Given the description of an element on the screen output the (x, y) to click on. 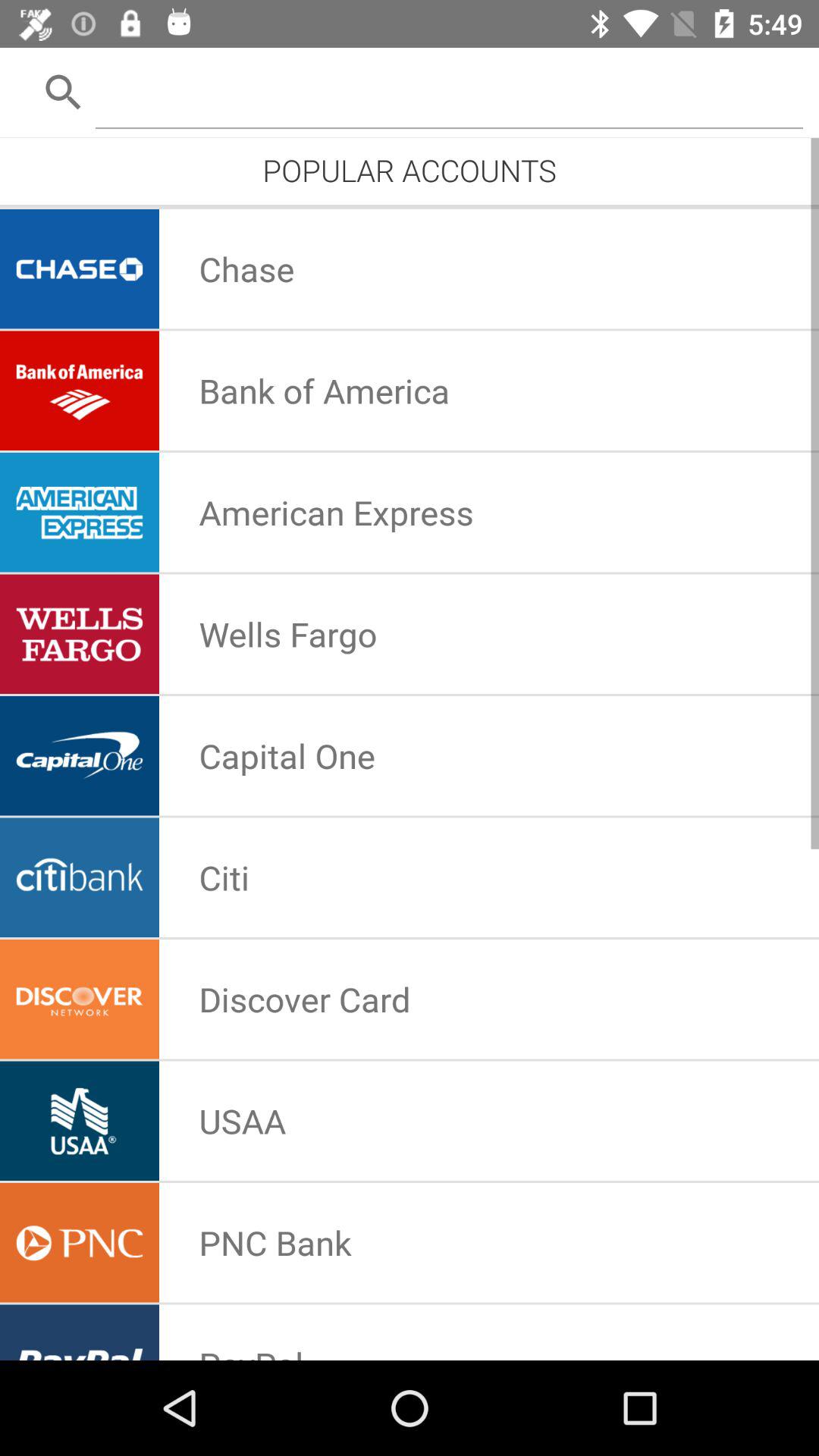
open icon above usaa (304, 999)
